Given the description of an element on the screen output the (x, y) to click on. 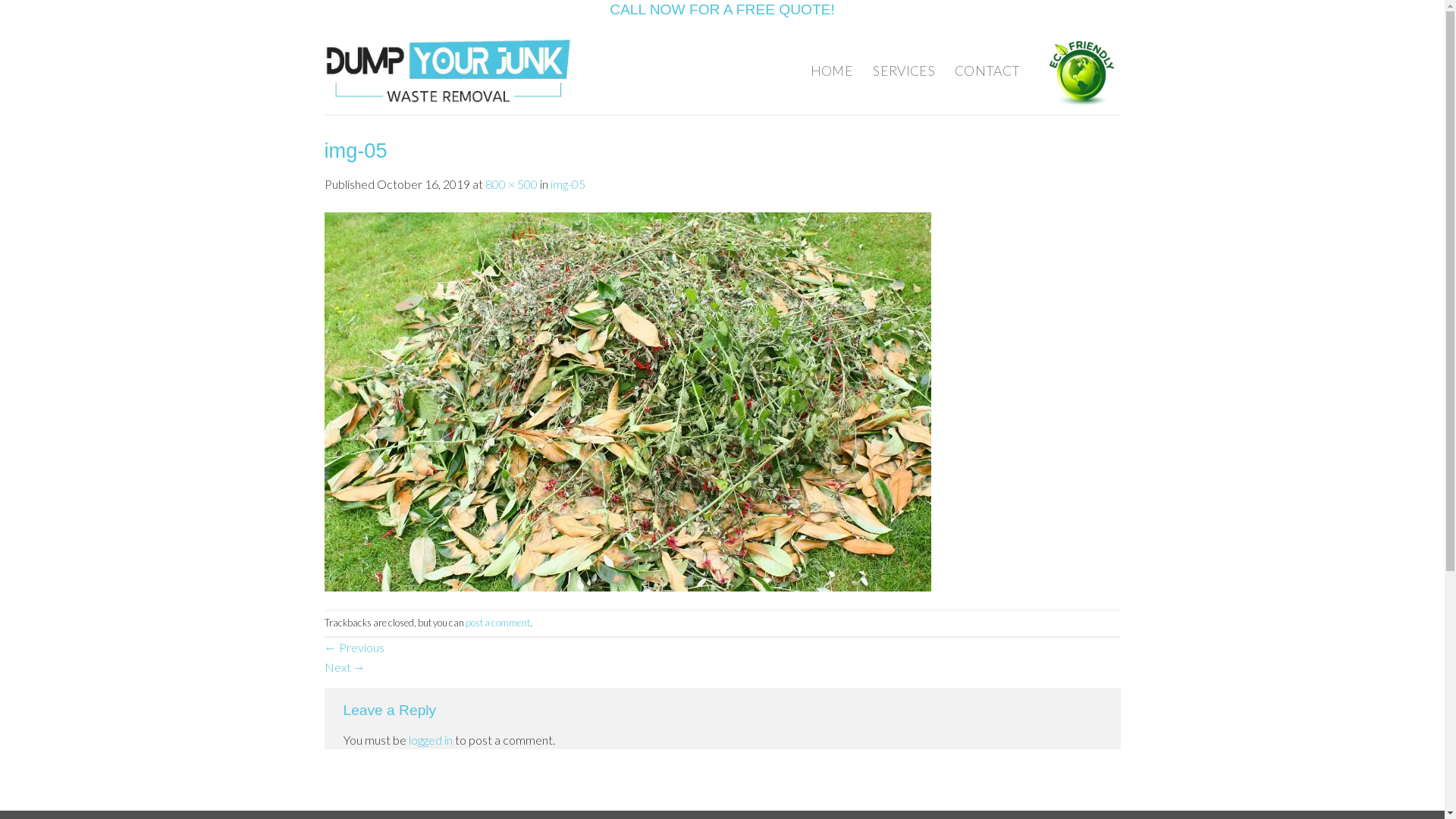
CALL NOW FOR A FREE QUOTE! Element type: text (721, 9)
SERVICES Element type: text (903, 70)
img-05 Element type: text (567, 183)
HOME Element type: text (831, 70)
CONTACT Element type: text (986, 70)
img-05 Element type: hover (627, 399)
post a comment Element type: text (497, 622)
logged in Element type: text (429, 739)
